Given the description of an element on the screen output the (x, y) to click on. 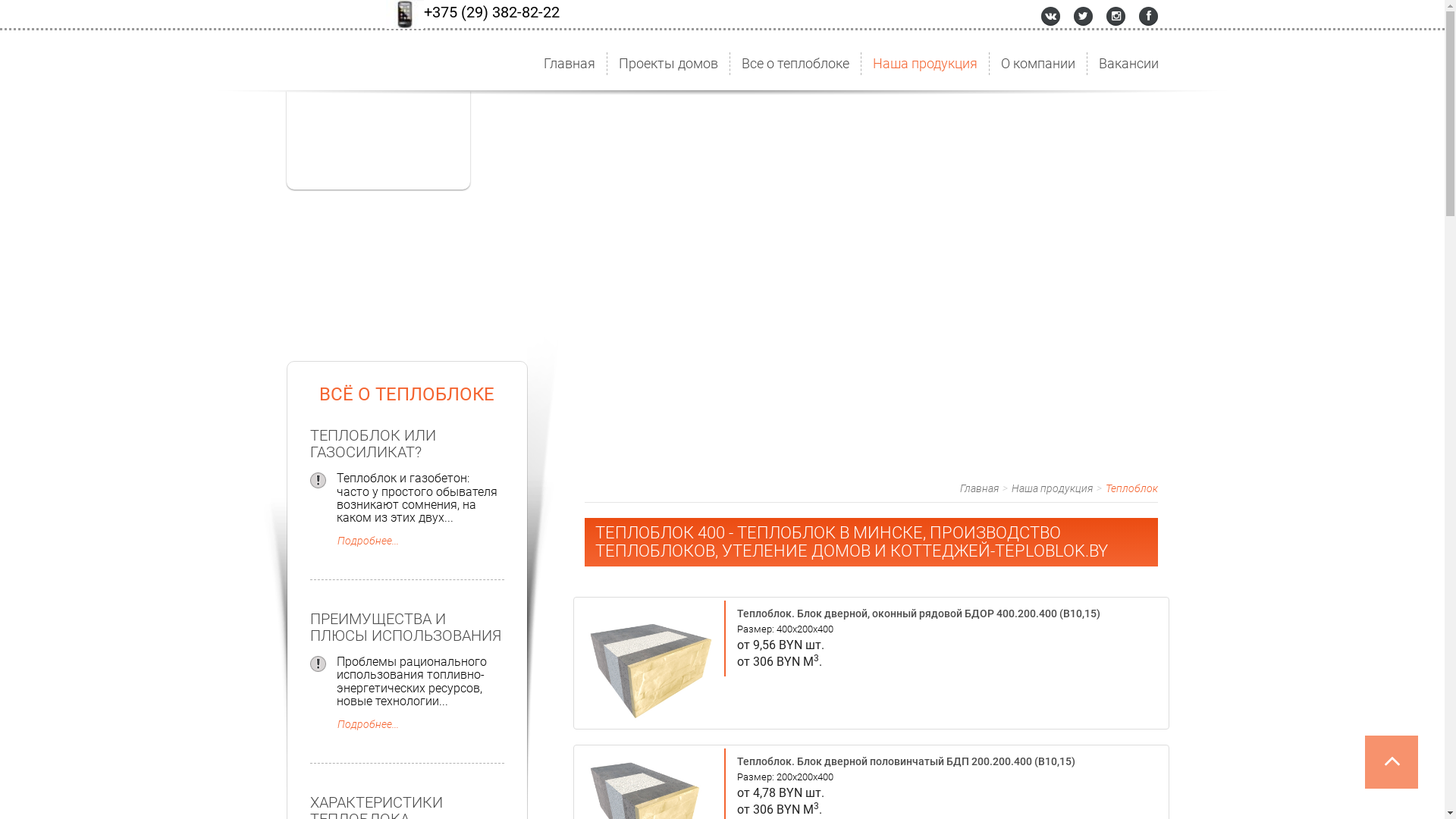
Twitter Element type: hover (1082, 15)
Instagram Element type: hover (1115, 15)
Vkontakte Element type: hover (1050, 15)
+375 (29) 382-82-22 Element type: text (491, 13)
Instagram Element type: hover (1148, 15)
